Given the description of an element on the screen output the (x, y) to click on. 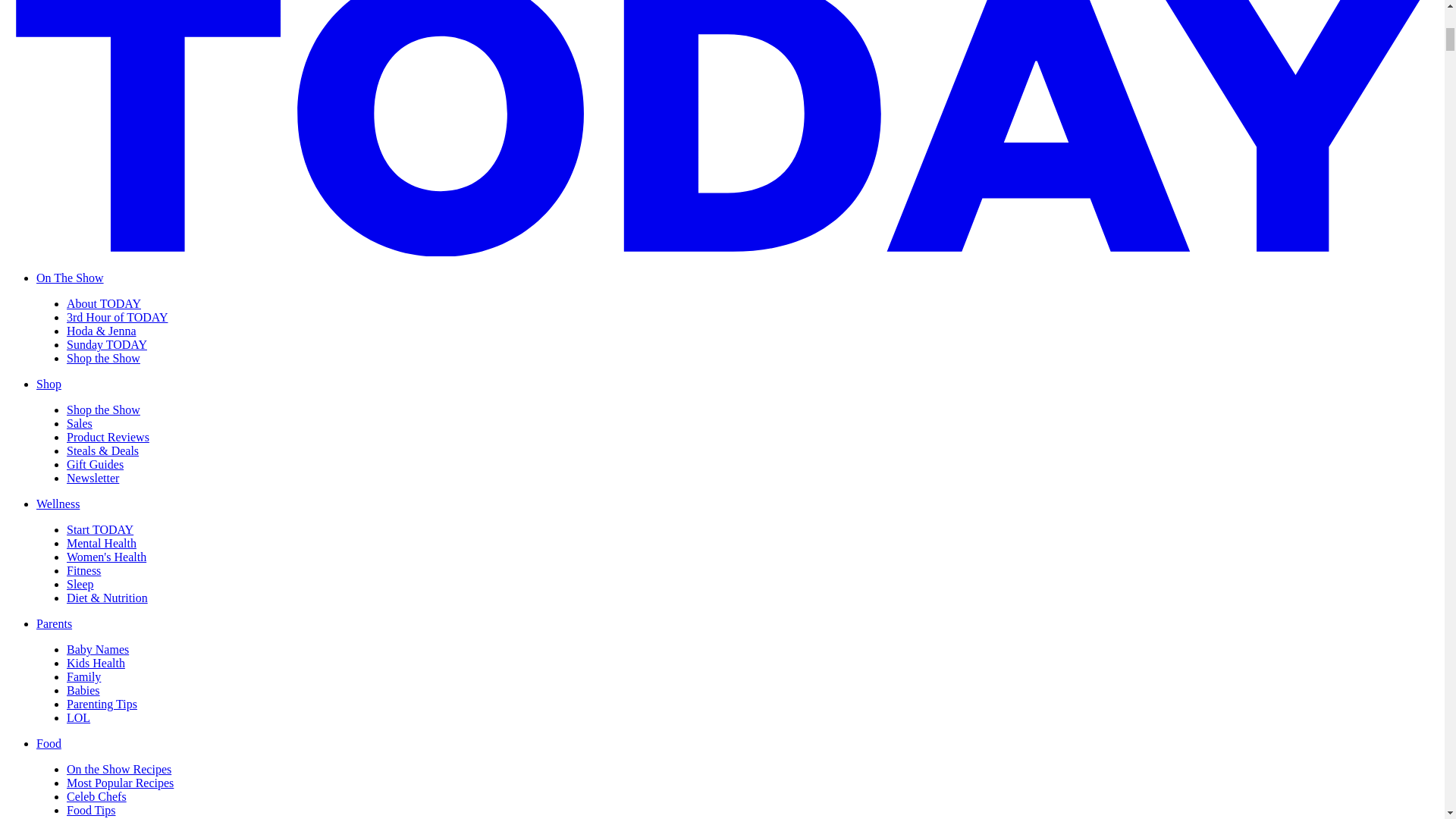
Baby Names (97, 649)
Shop the Show (102, 409)
Newsletter (92, 477)
Fitness (83, 570)
On The Show (69, 277)
About TODAY (103, 303)
Shop (48, 383)
Family (83, 676)
Kids Health (95, 662)
Mental Health (101, 543)
Women's Health (106, 556)
Sales (79, 422)
3rd Hour of TODAY (116, 317)
LOL (78, 717)
Celeb Chefs (96, 796)
